Given the description of an element on the screen output the (x, y) to click on. 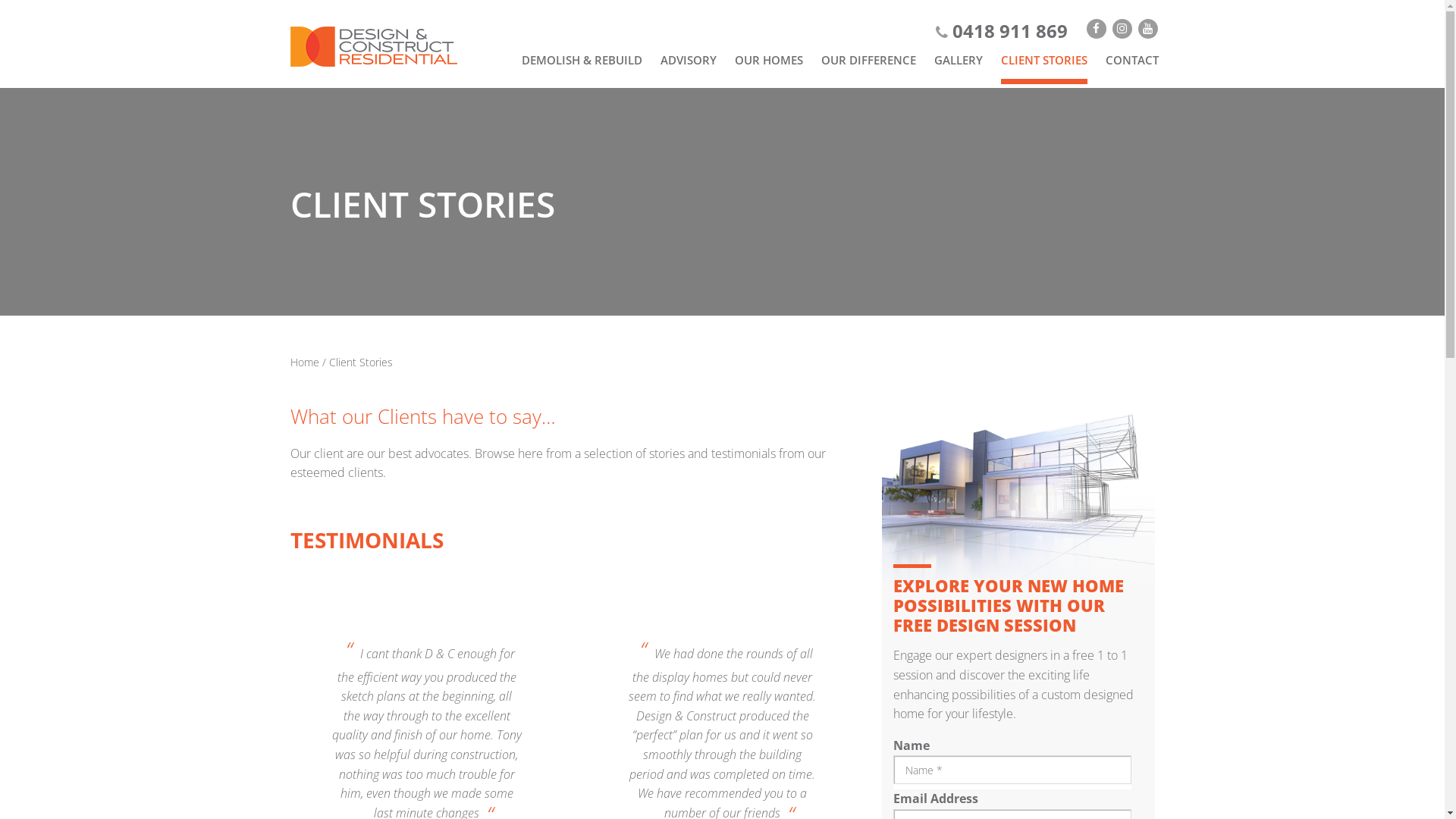
DEMOLISH & REBUILD Element type: text (581, 59)
0418 911 869 Element type: text (1001, 30)
Home Element type: text (303, 361)
GALLERY Element type: text (958, 59)
OUR HOMES Element type: text (768, 59)
instagram Element type: text (1121, 28)
ADVISORY Element type: text (687, 59)
facebook Element type: text (1095, 28)
CLIENT STORIES Element type: text (1044, 59)
youtube Element type: text (1147, 28)
OUR DIFFERENCE Element type: text (867, 59)
CONTACT Element type: text (1131, 59)
